Given the description of an element on the screen output the (x, y) to click on. 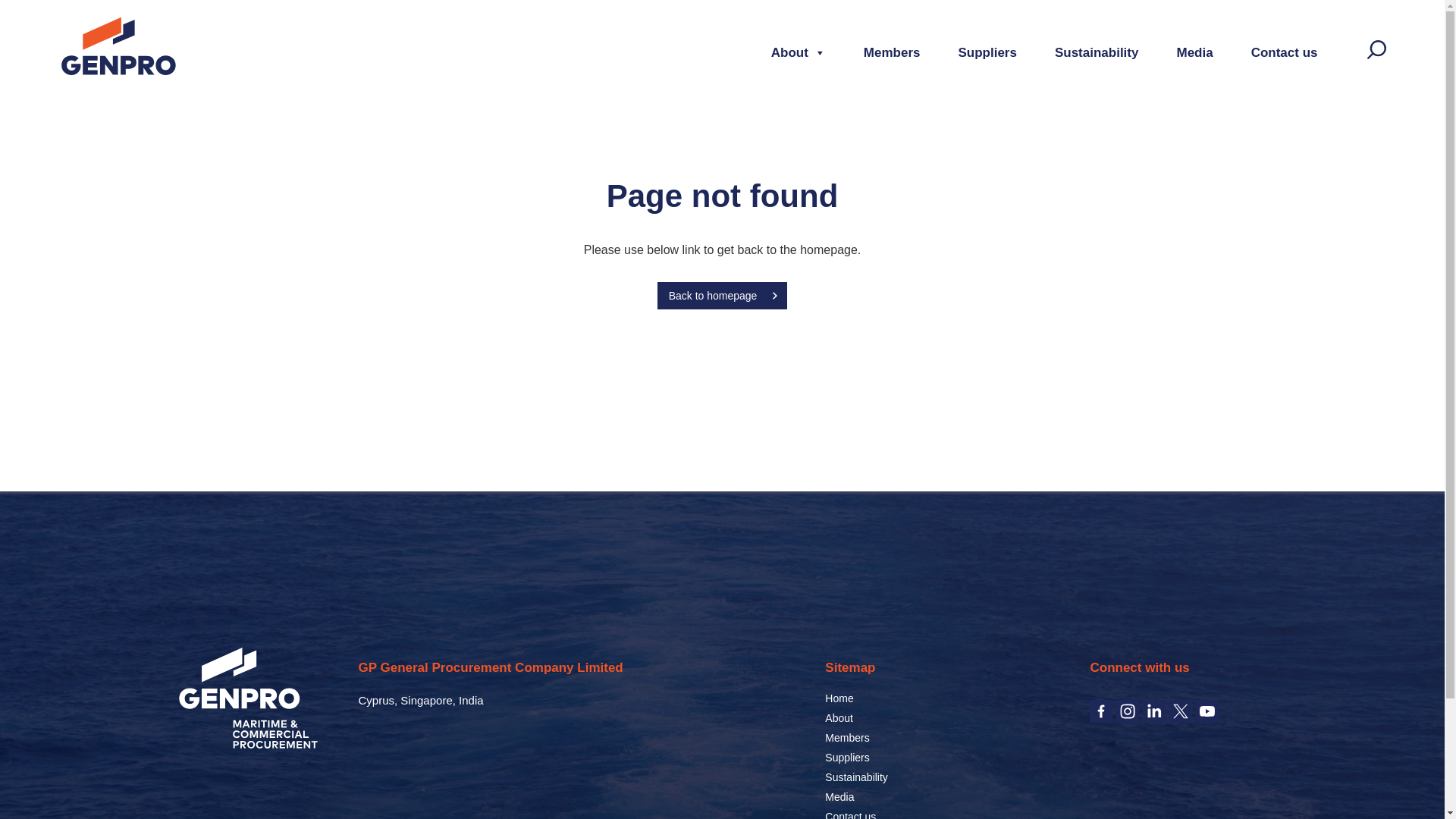
Contact us (1283, 52)
Members (892, 52)
About (797, 52)
Sustainability (1096, 52)
Suppliers (847, 757)
Back to homepage (722, 295)
Media (839, 797)
Contact us (850, 814)
Members (847, 737)
Sustainability (856, 776)
